Given the description of an element on the screen output the (x, y) to click on. 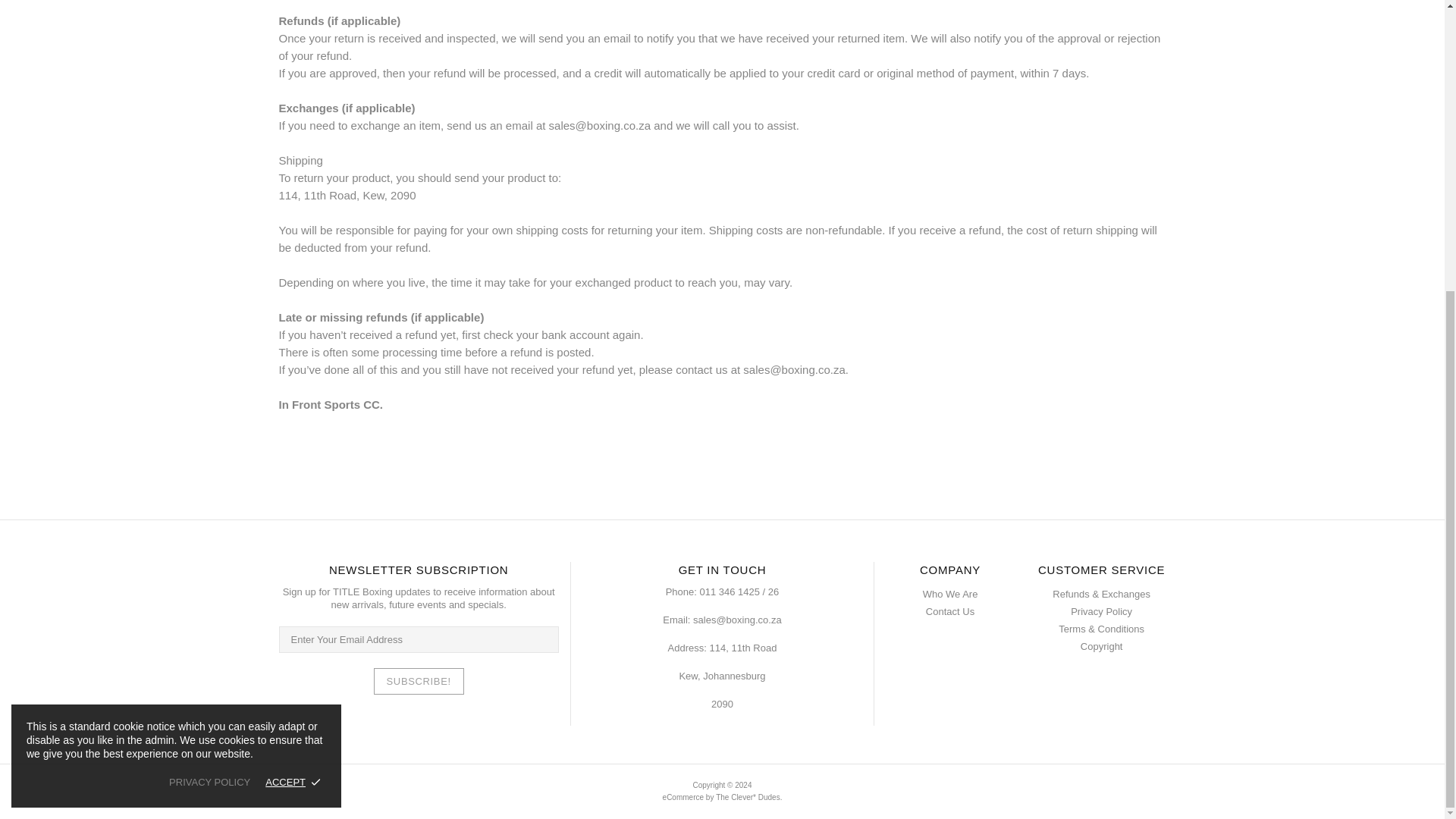
The Clever Dudes (747, 797)
SUBSCRIBE! (419, 681)
